Given the description of an element on the screen output the (x, y) to click on. 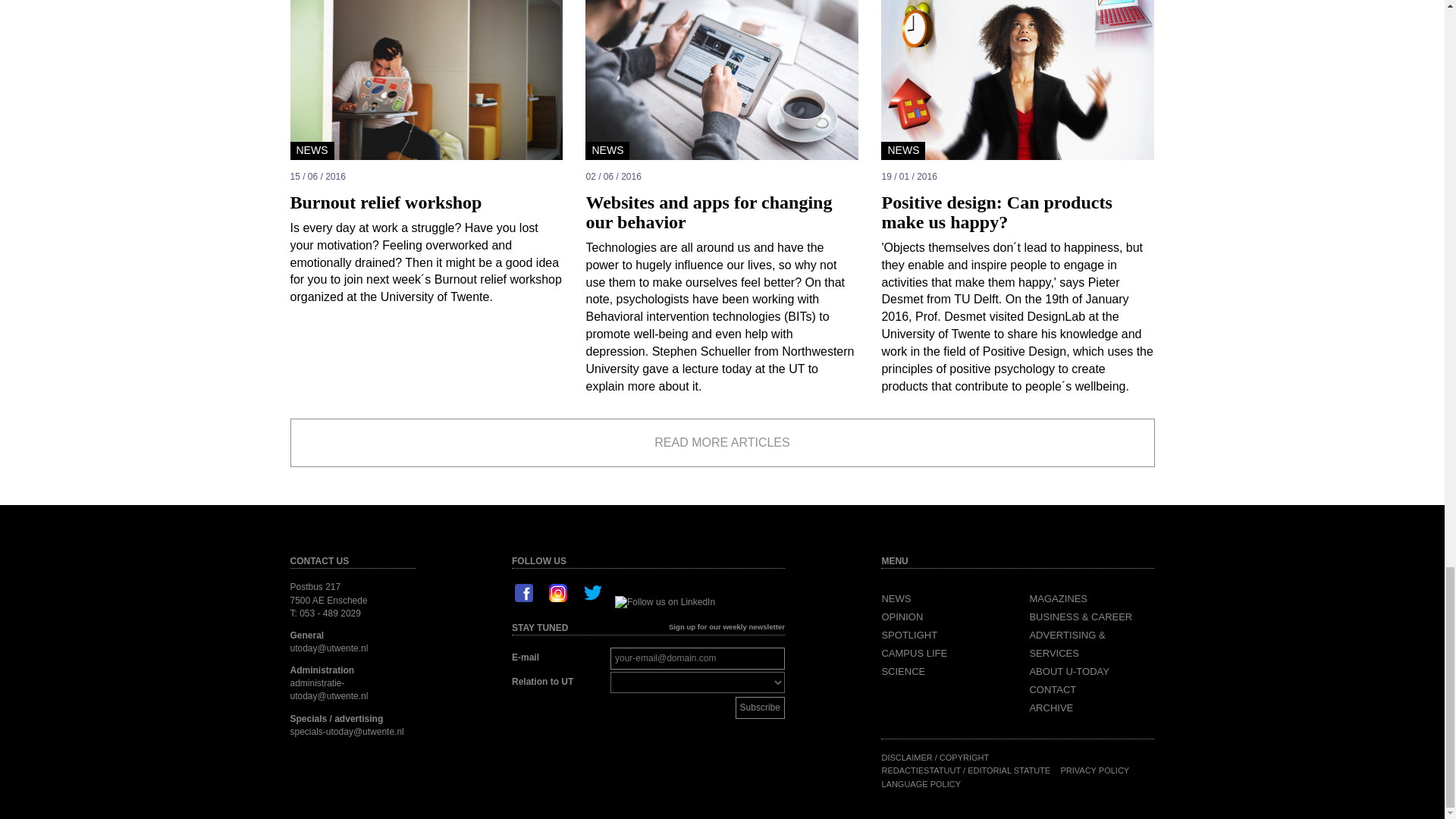
Subscribe (759, 707)
2016-06-15 11:36 (425, 176)
NEWS (895, 598)
Subscribe (759, 707)
053 - 489 2029 (330, 613)
OPINION (901, 616)
Sign up for our weekly newsletter (726, 626)
READ MORE ARTICLES (721, 442)
